Given the description of an element on the screen output the (x, y) to click on. 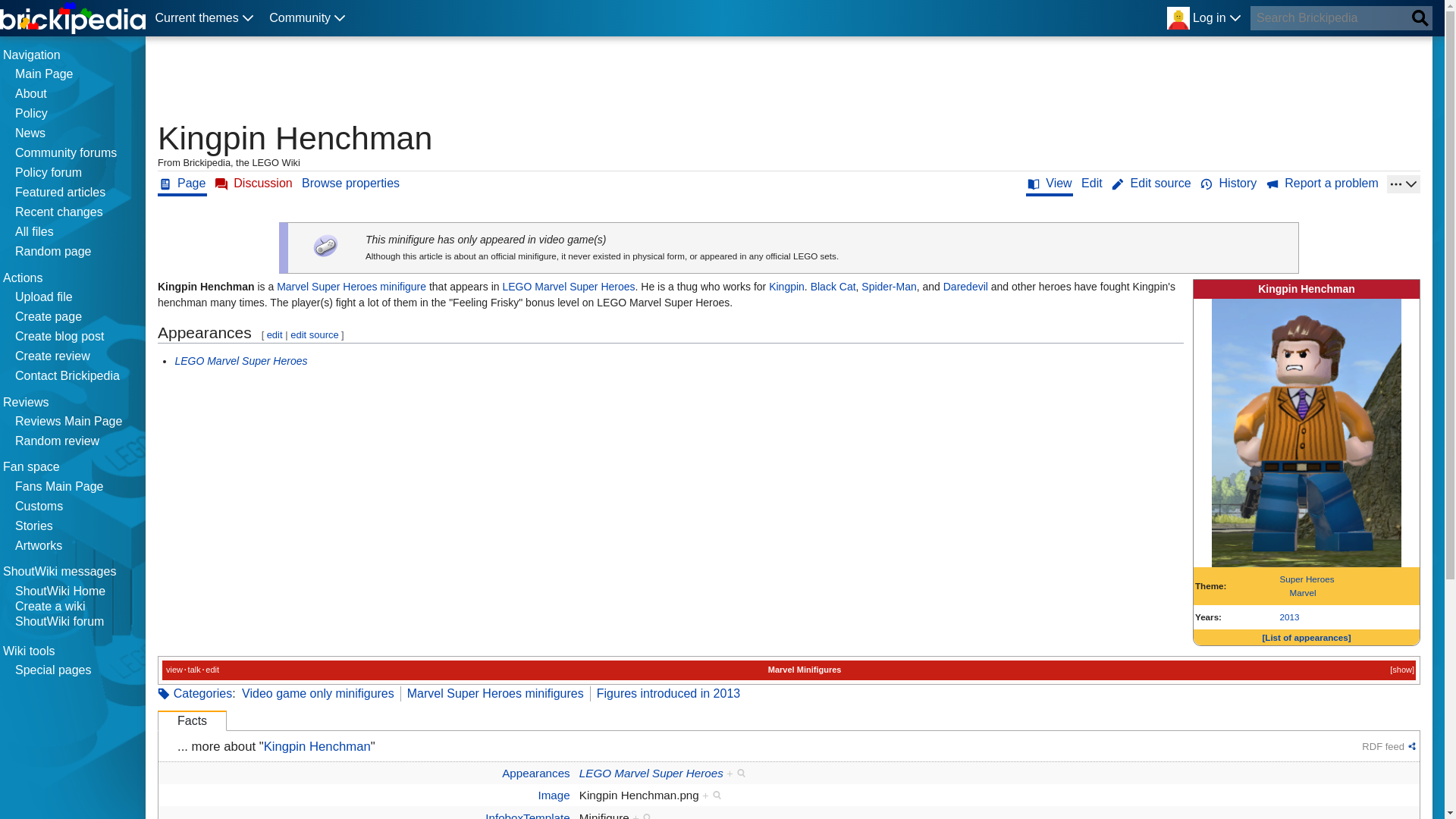
Visit the main page (72, 18)
Search (1419, 17)
Advertisement (433, 82)
Search (1419, 17)
Go (1419, 17)
Search the pages for this text (1419, 17)
Go (1419, 17)
